Given the description of an element on the screen output the (x, y) to click on. 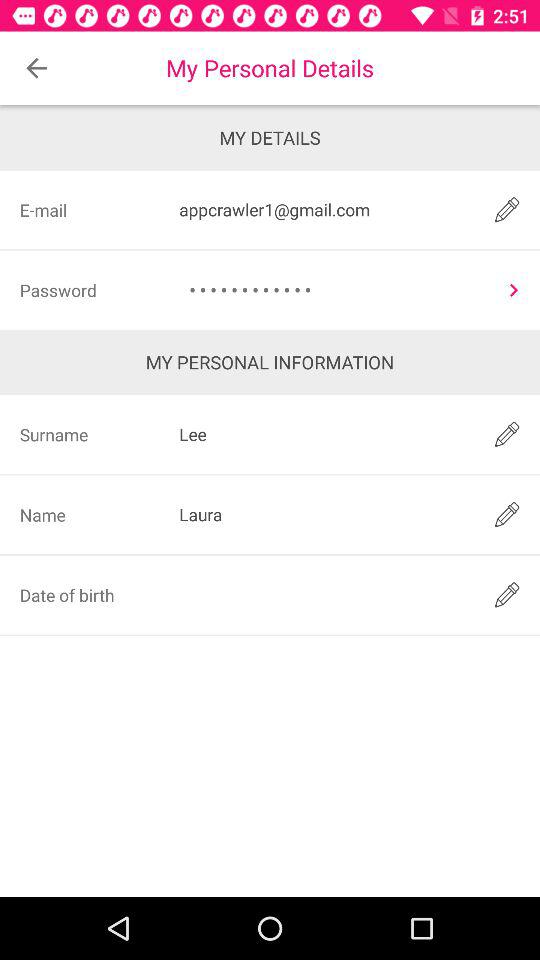
choose the item below the my details item (323, 209)
